Given the description of an element on the screen output the (x, y) to click on. 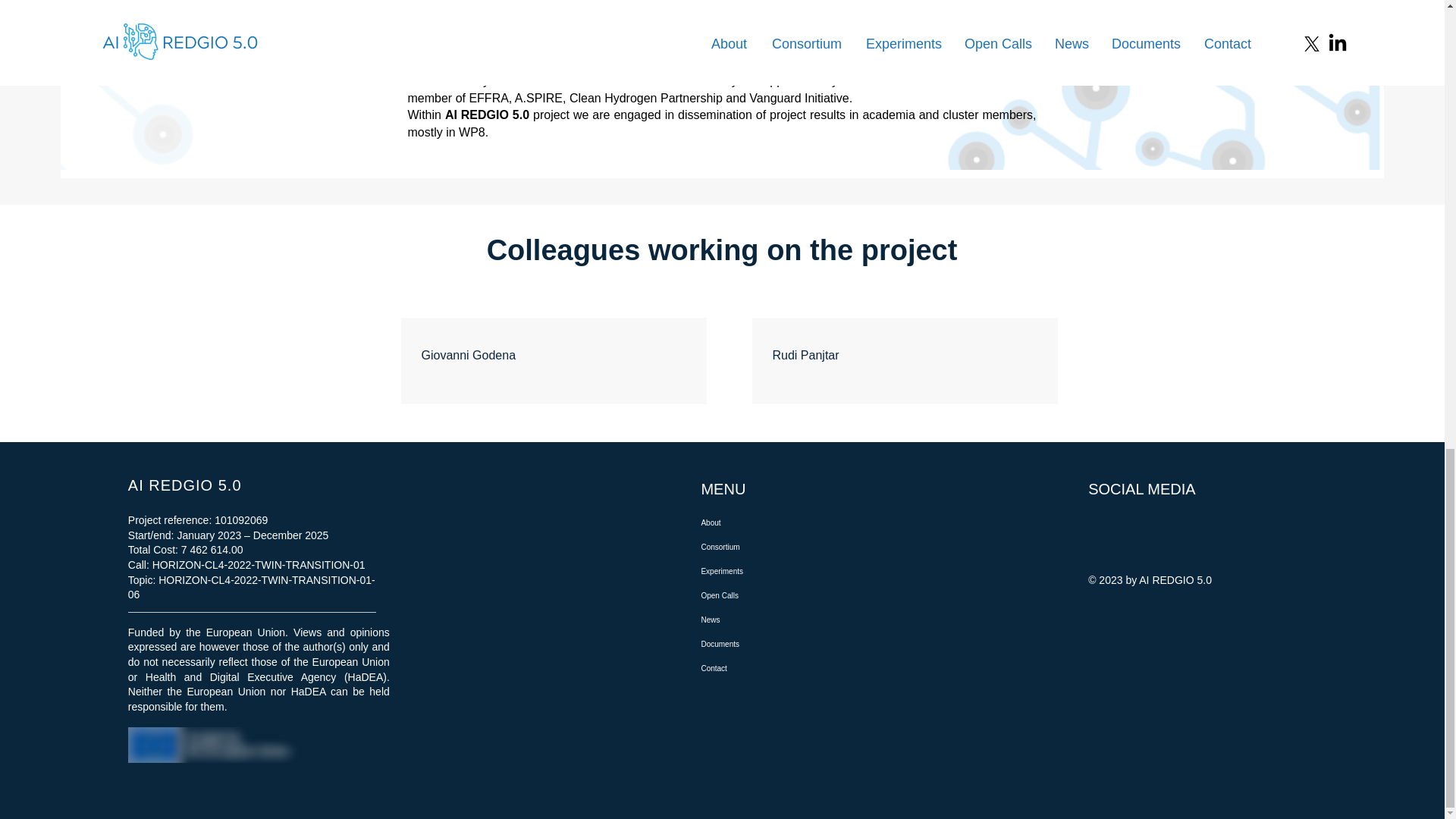
Experiments (771, 571)
AI REDGIO 5.0 (184, 484)
Consortium (771, 547)
Contact (771, 668)
Documents (771, 644)
About (771, 523)
